Given the description of an element on the screen output the (x, y) to click on. 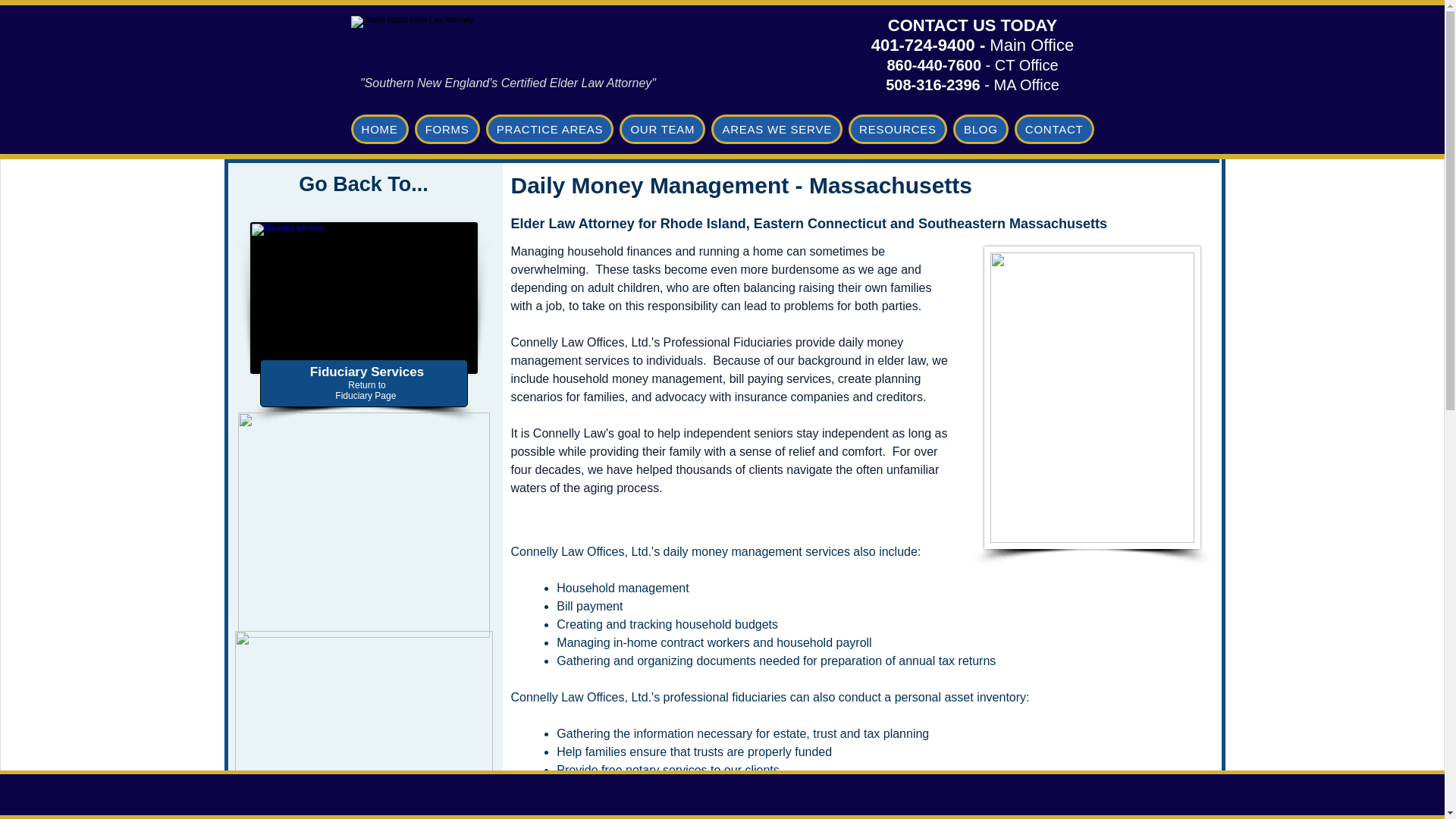
Fiduciary Services (366, 371)
PRACTICE AREAS (550, 129)
Probate (506, 40)
CONTACT (1054, 129)
OUR TEAM (662, 129)
BLOG (981, 129)
HOME (378, 129)
RESOURCES (897, 129)
Fiduciary Page  (365, 395)
Return to (366, 385)
AREAS WE SERVE (777, 129)
FORMS (447, 129)
